Given the description of an element on the screen output the (x, y) to click on. 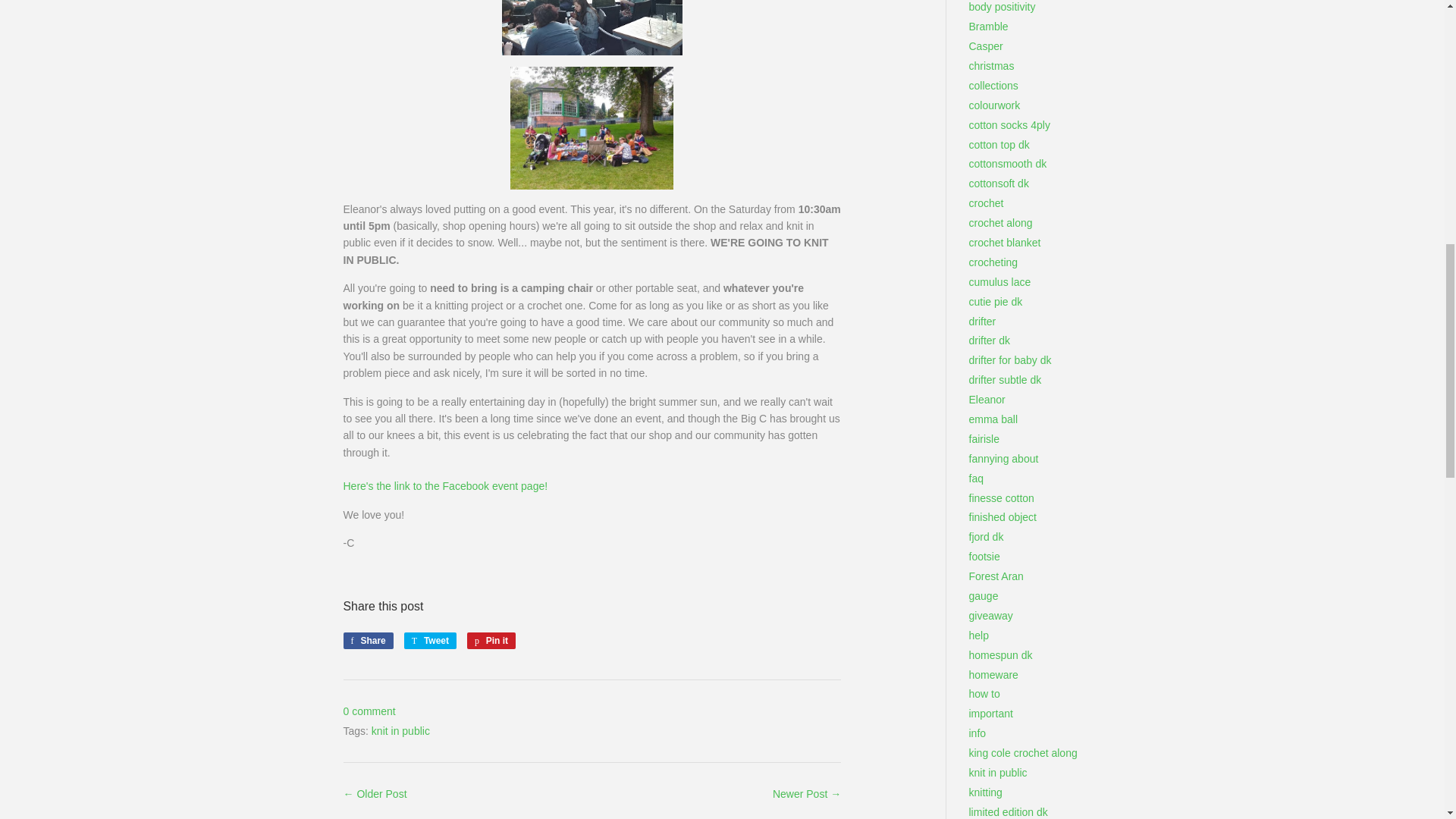
Show articles tagged collections (993, 85)
Show articles tagged christmas (991, 65)
Show articles tagged body positivity (1002, 6)
Pin on Pinterest (491, 640)
Here's the link to the Facebook event page! (444, 485)
0 comment (368, 711)
Show articles tagged colourwork (994, 105)
knit in public (444, 485)
knit in public (400, 730)
Tweet on Twitter (430, 640)
Share on Facebook (430, 640)
Show articles tagged Casper (367, 640)
Show articles tagged Bramble (491, 640)
